Given the description of an element on the screen output the (x, y) to click on. 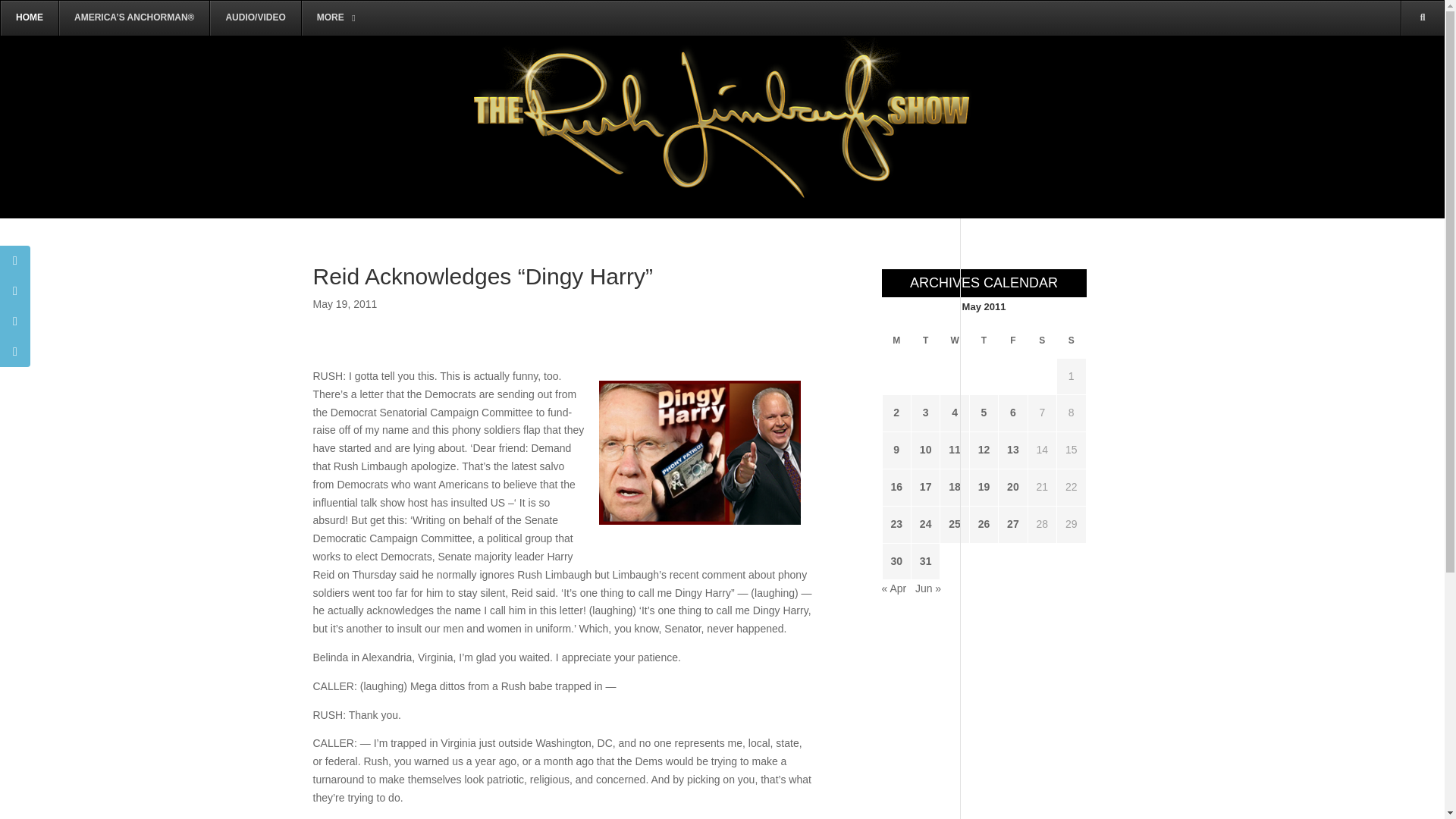
Search (1400, 87)
HOME (29, 18)
